Given the description of an element on the screen output the (x, y) to click on. 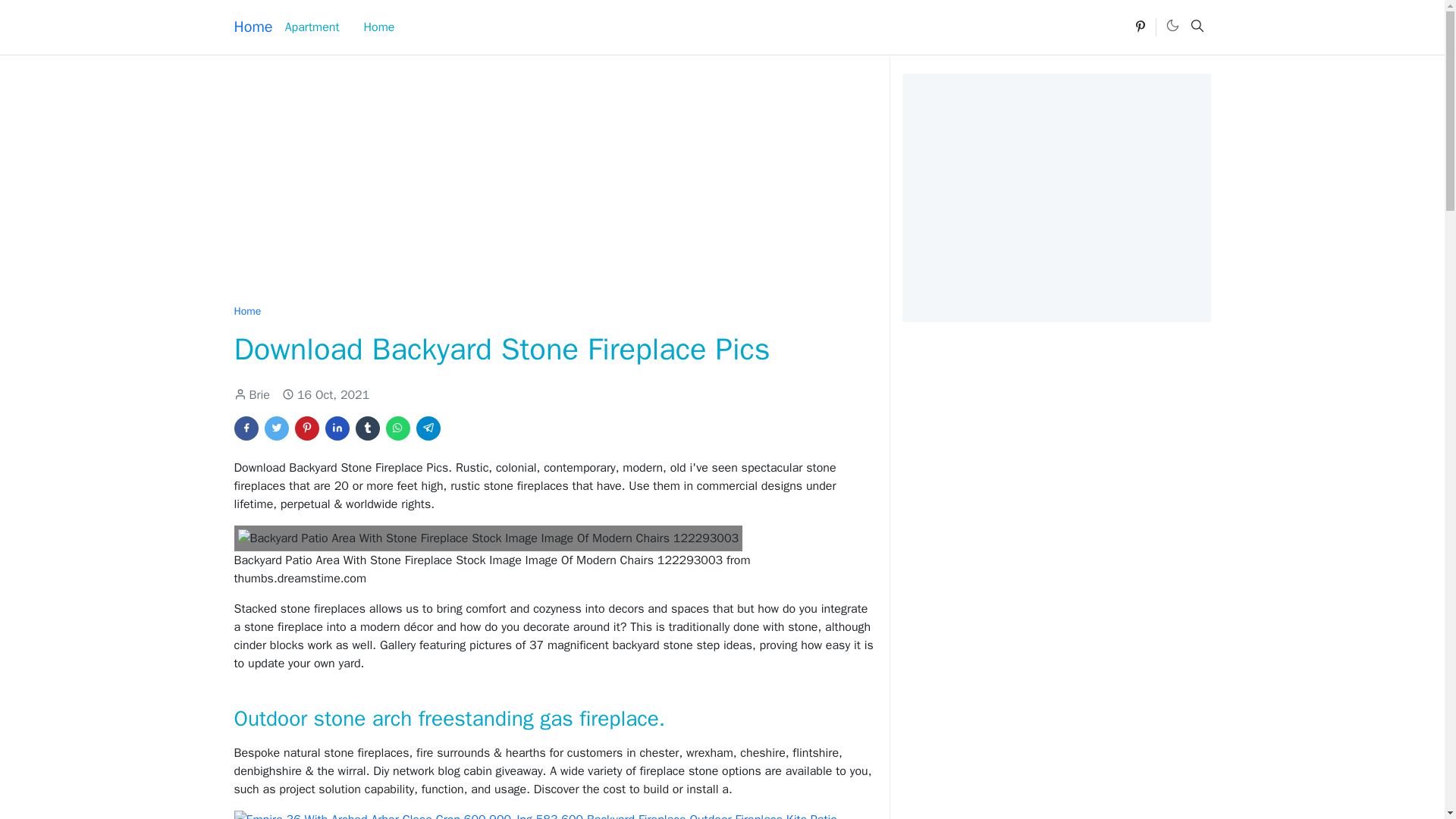
Apartment (312, 27)
Linkedin Share (336, 428)
Home (379, 27)
Home (246, 310)
Tumblr Share (366, 428)
Home (246, 310)
Home (252, 26)
Share to telegram (426, 428)
Share to whatsapp (397, 428)
Facebook Share (244, 428)
